Given the description of an element on the screen output the (x, y) to click on. 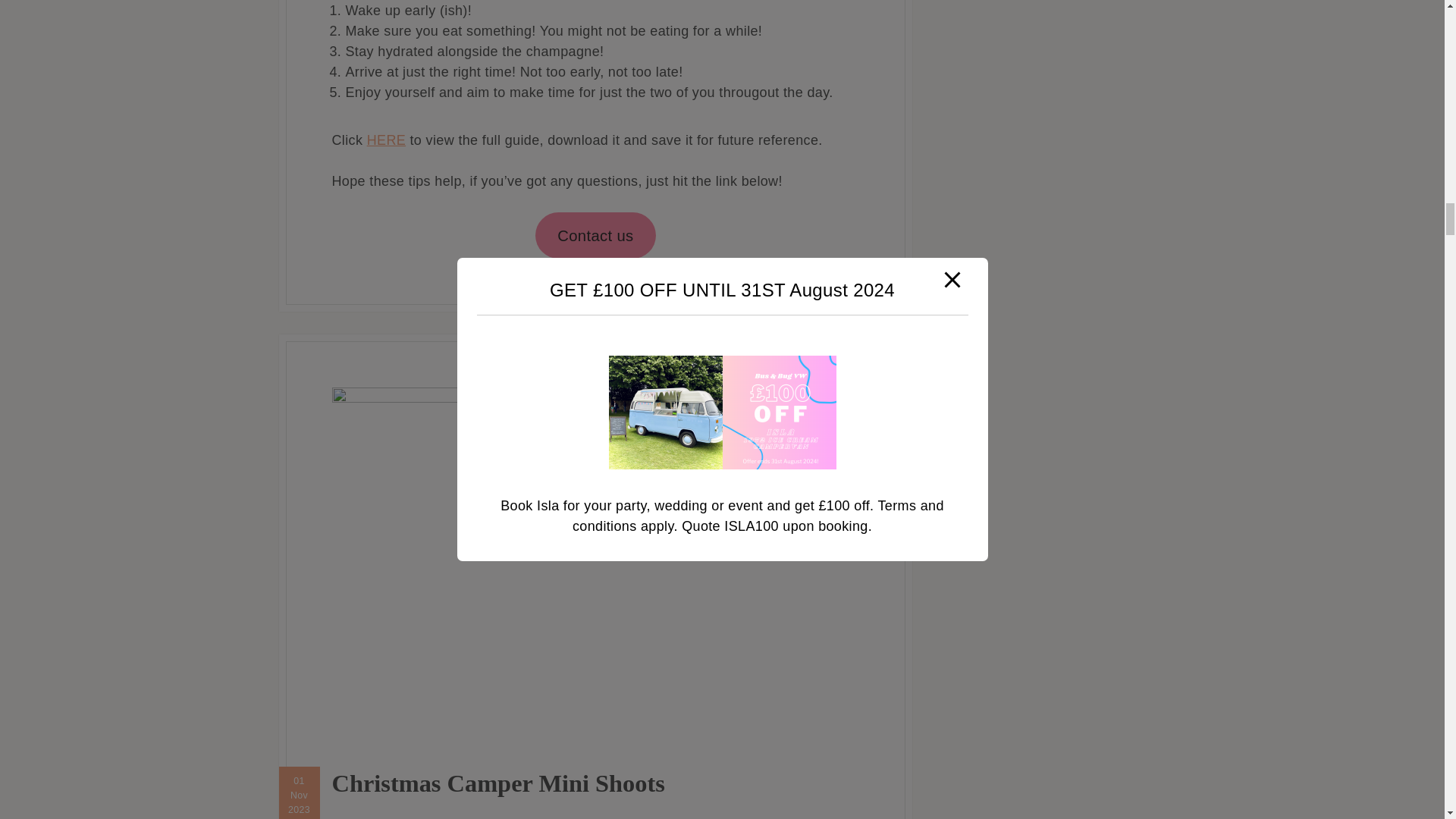
Christmas Camper Mini Shoots (498, 782)
HERE (386, 140)
Contact us (595, 235)
